Given the description of an element on the screen output the (x, y) to click on. 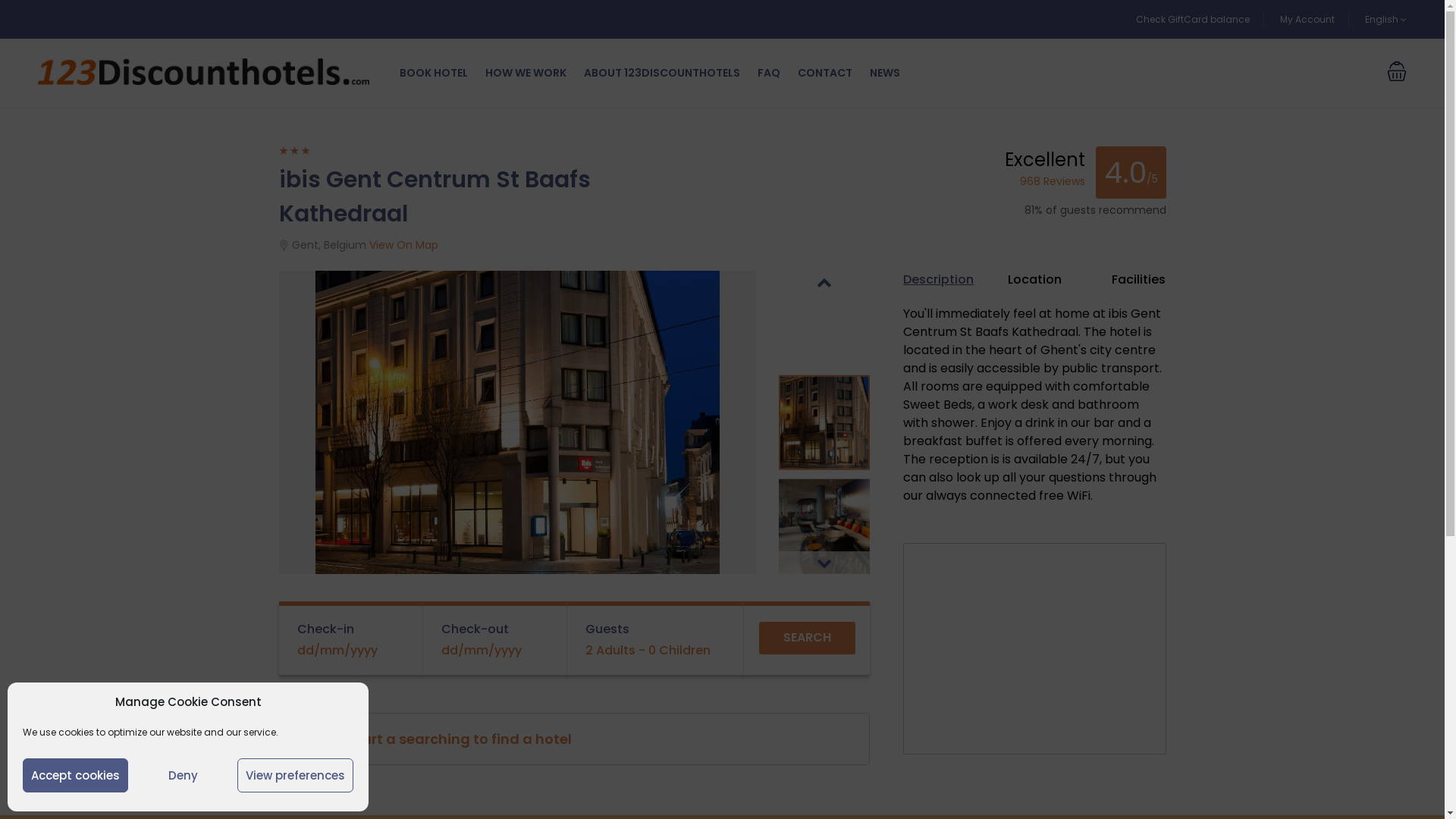
ABOUT 123DISCOUNTHOTELS Element type: text (661, 72)
Deny Element type: text (182, 775)
View On Map Element type: text (402, 244)
View preferences Element type: text (295, 775)
CONTACT Element type: text (824, 72)
English Element type: text (1385, 18)
My Account Element type: text (1307, 18)
NEWS Element type: text (884, 72)
HOW WE WORK Element type: text (525, 72)
BOOK HOTEL Element type: text (433, 72)
FAQ Element type: text (768, 72)
Accept cookies Element type: text (75, 775)
Search Element type: text (807, 637)
Check GiftCard balance Element type: text (1192, 18)
